Given the description of an element on the screen output the (x, y) to click on. 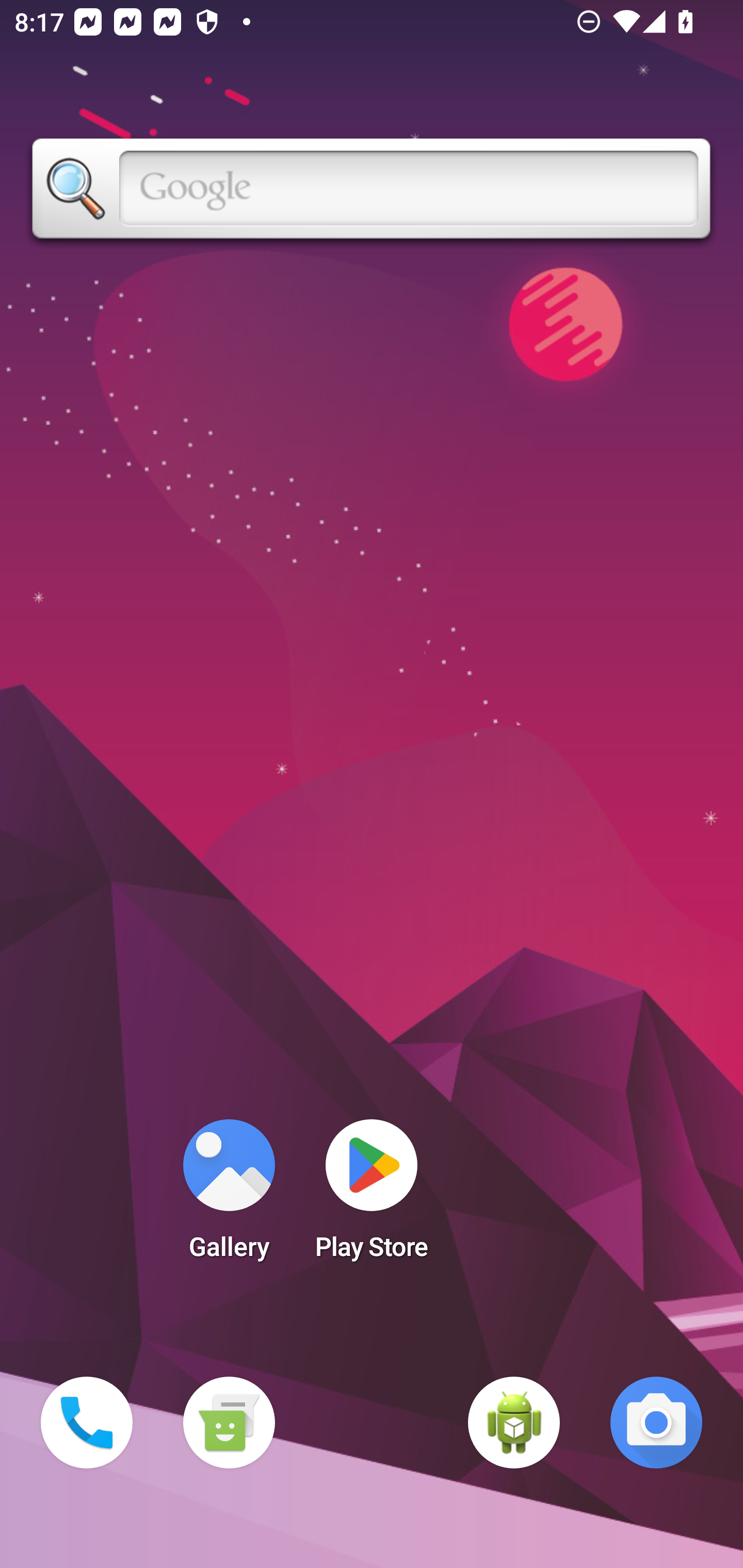
Gallery (228, 1195)
Play Store (371, 1195)
Phone (86, 1422)
Messaging (228, 1422)
WebView Browser Tester (513, 1422)
Camera (656, 1422)
